Given the description of an element on the screen output the (x, y) to click on. 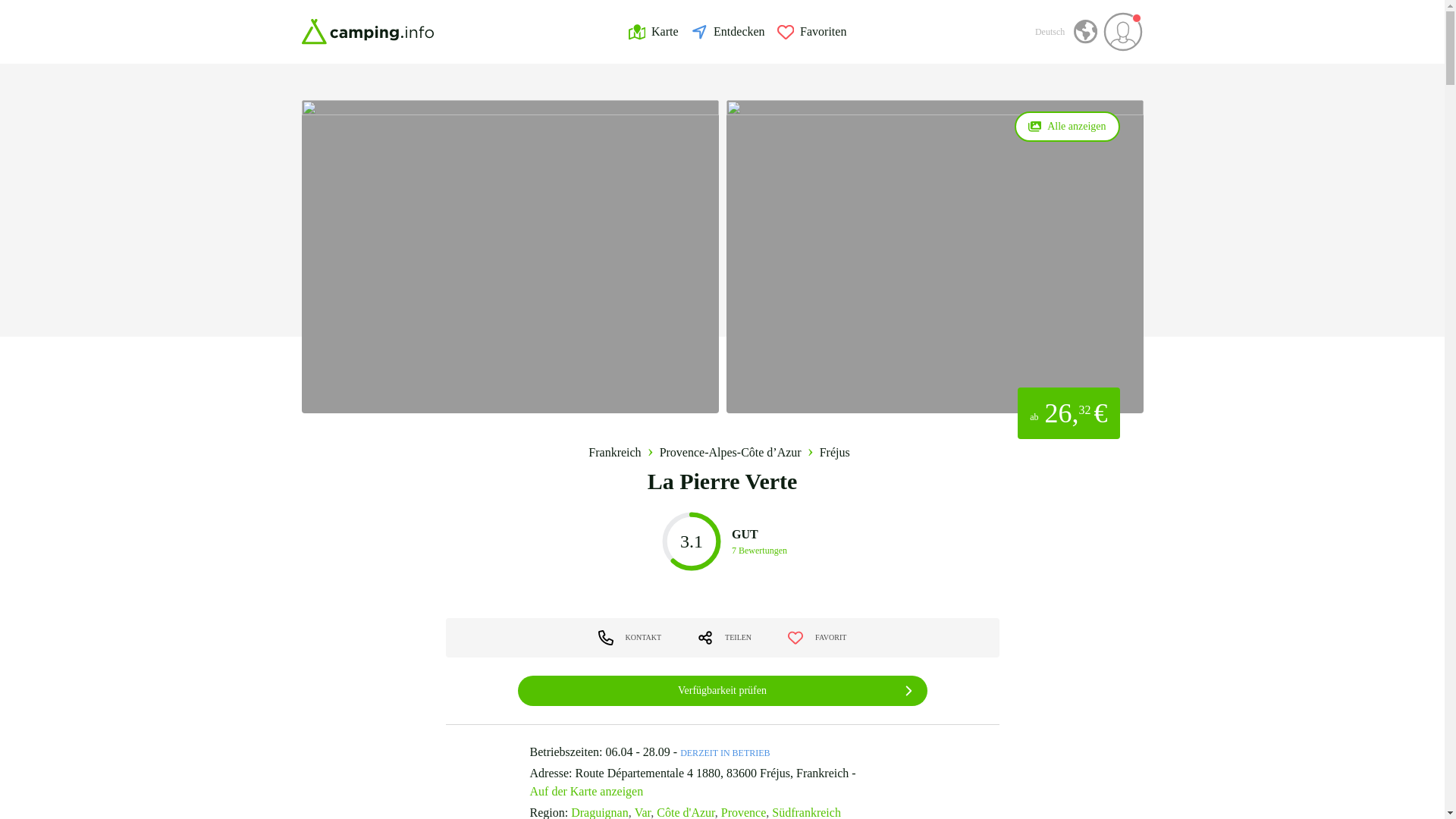
Du bist nicht eingeloggt (1122, 31)
Var (643, 811)
Entdecken (727, 31)
TEILEN (724, 636)
Favoriten (722, 540)
Karte (812, 31)
Provence (653, 31)
KONTAKT (721, 540)
